Given the description of an element on the screen output the (x, y) to click on. 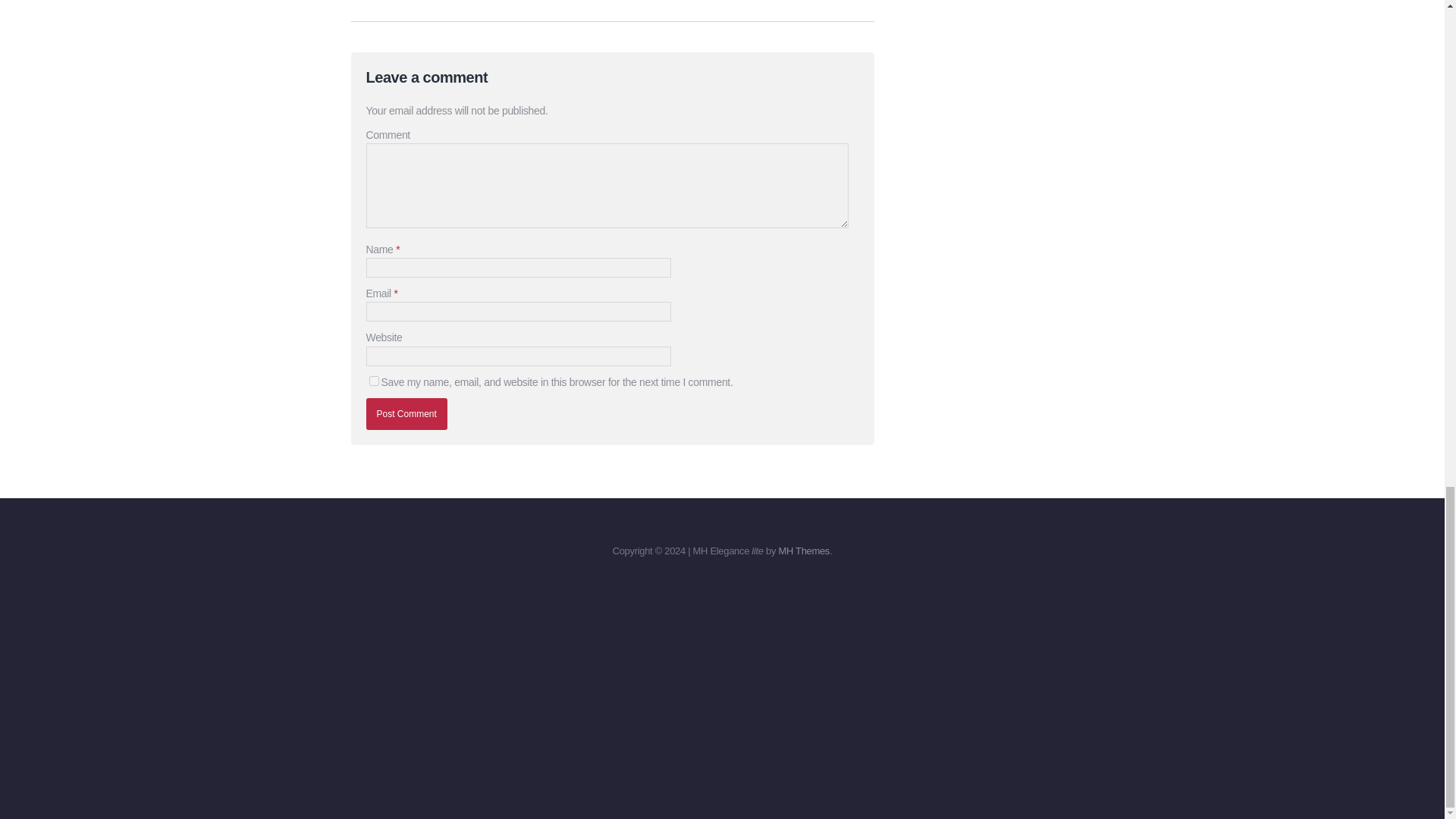
Post Comment (405, 413)
yes (373, 380)
MH Themes (803, 550)
Post Comment (405, 413)
